Given the description of an element on the screen output the (x, y) to click on. 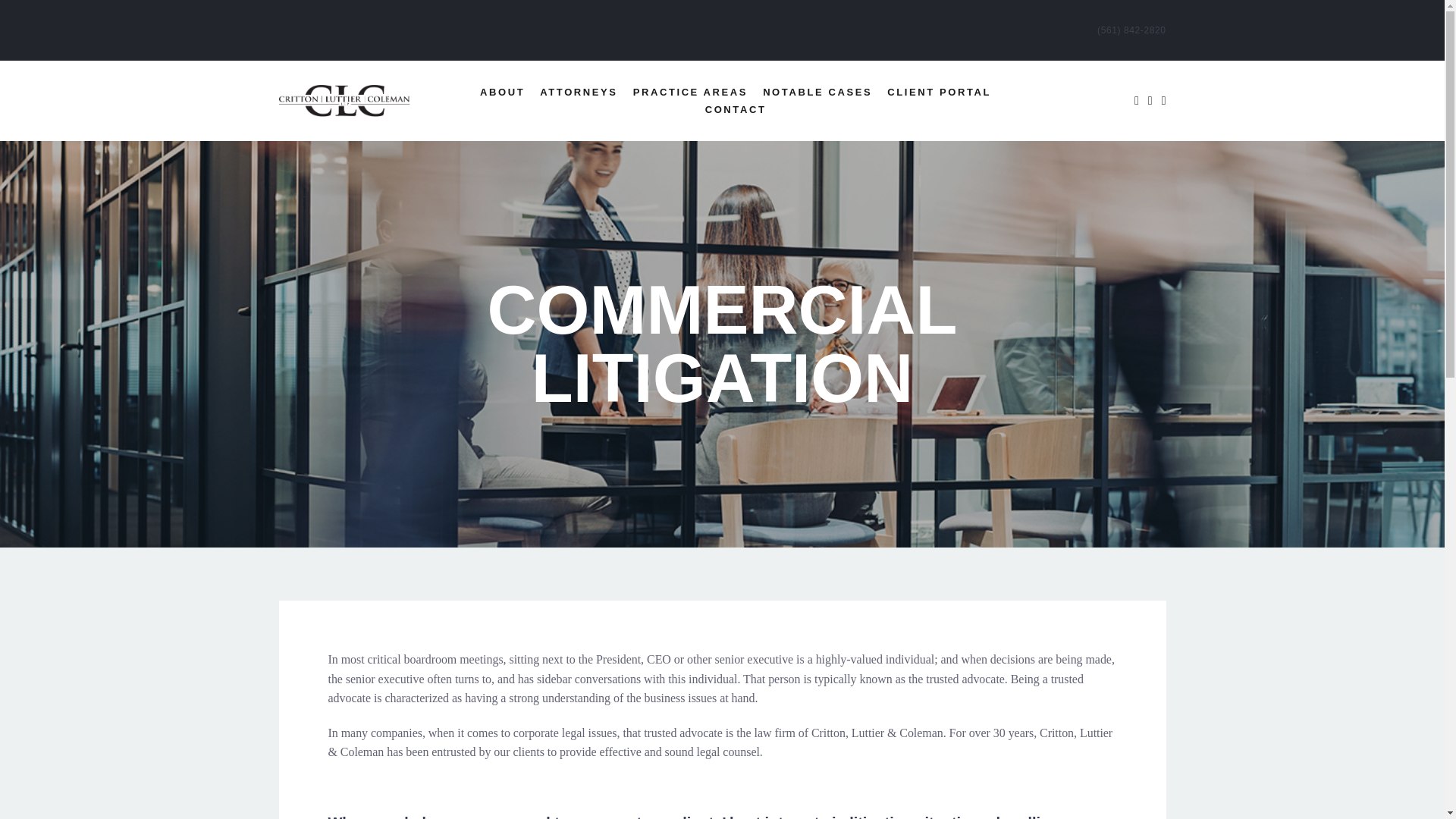
ABOUT (501, 91)
ATTORNEYS (578, 91)
NOTABLE CASES (817, 91)
CLIENT PORTAL (938, 91)
CONTACT (735, 108)
PRACTICE AREAS (690, 91)
